Given the description of an element on the screen output the (x, y) to click on. 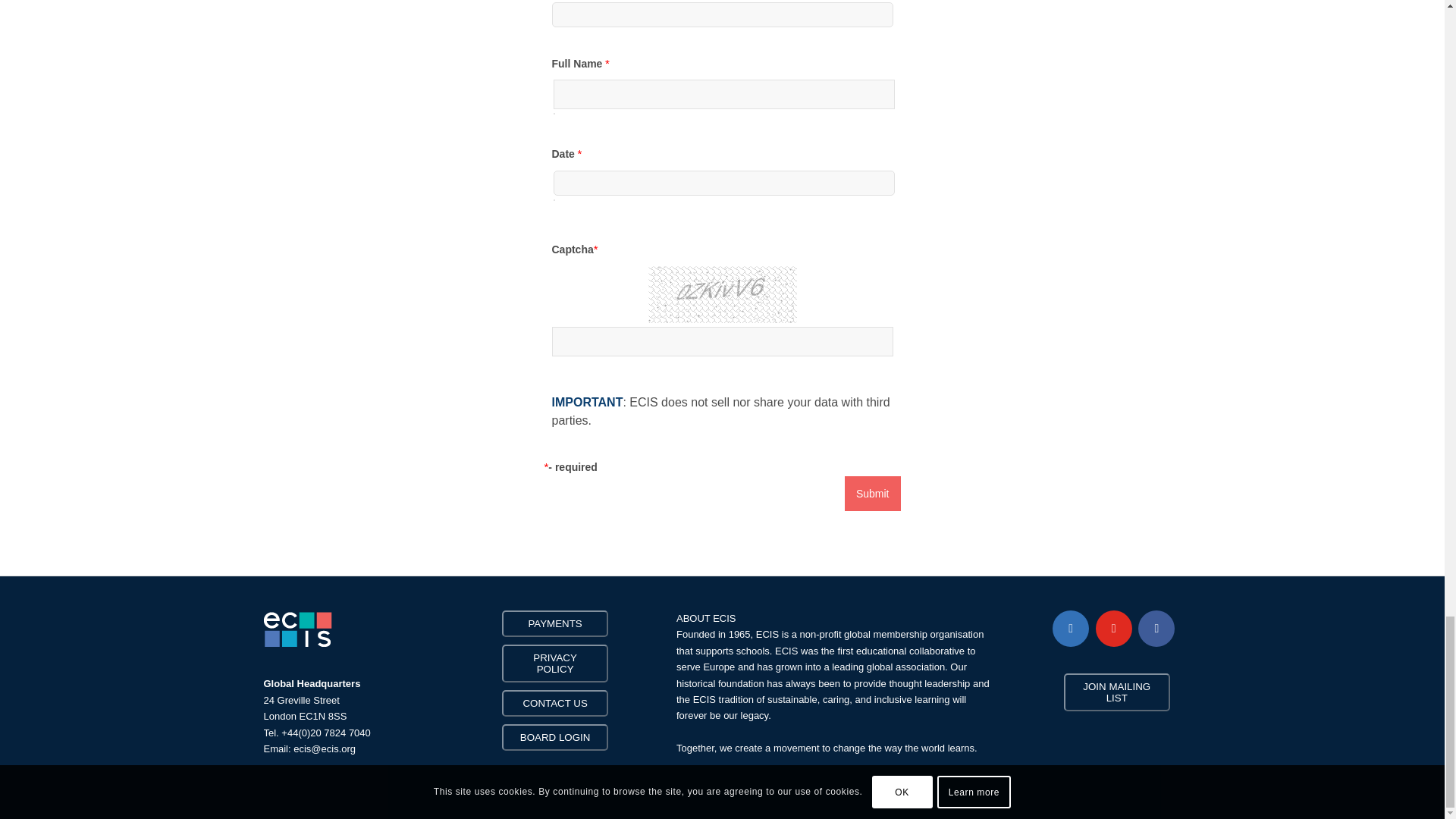
Facebook (1156, 628)
YouTube (1114, 628)
Linkedin (1070, 628)
PAYMENTS (553, 623)
Captcha (721, 304)
Submit (872, 493)
PAYMENTS (555, 623)
